Given the description of an element on the screen output the (x, y) to click on. 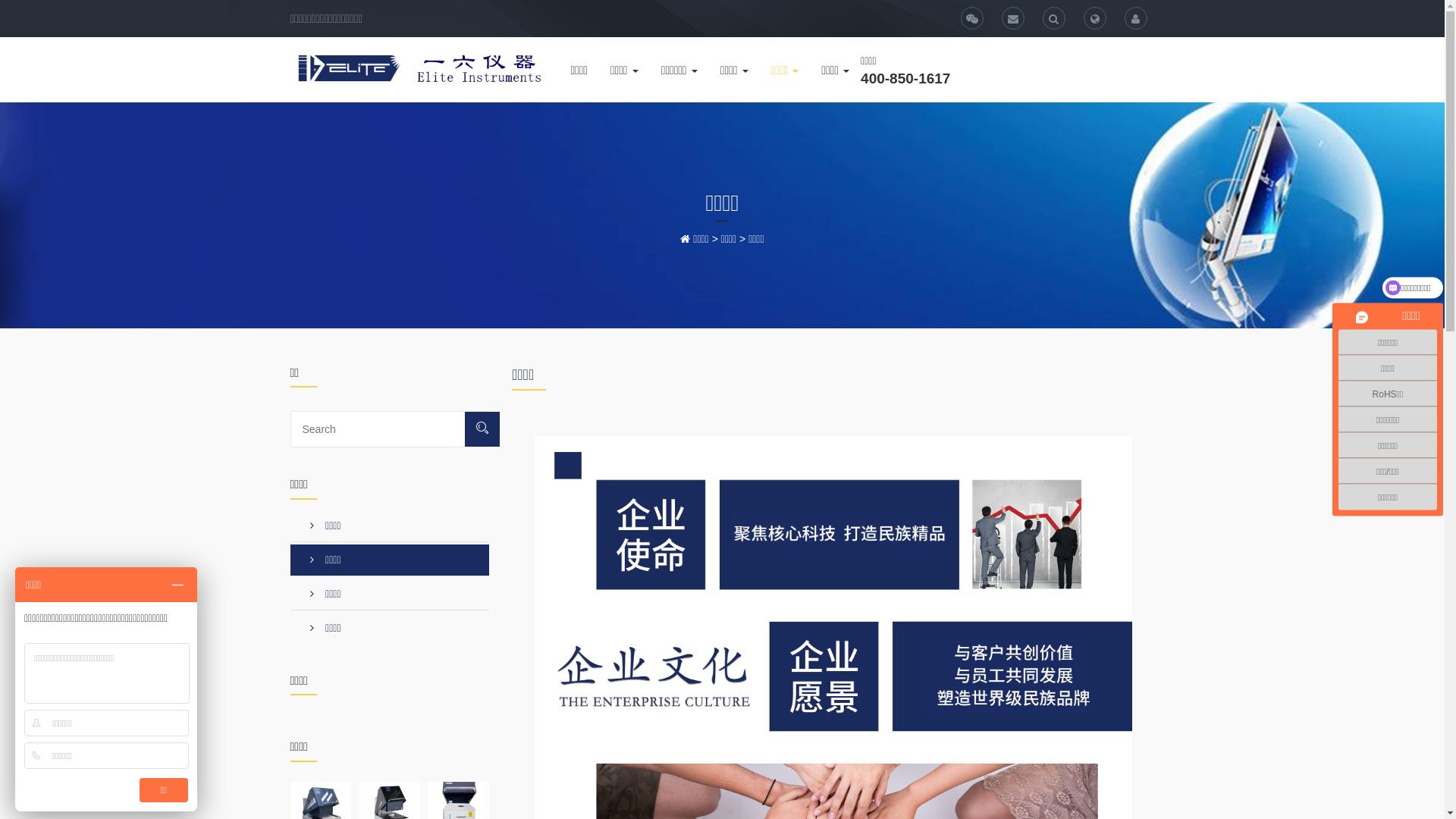
Toggle Search Element type: text (1094, 17)
Toggle Search Element type: text (1053, 17)
